Given the description of an element on the screen output the (x, y) to click on. 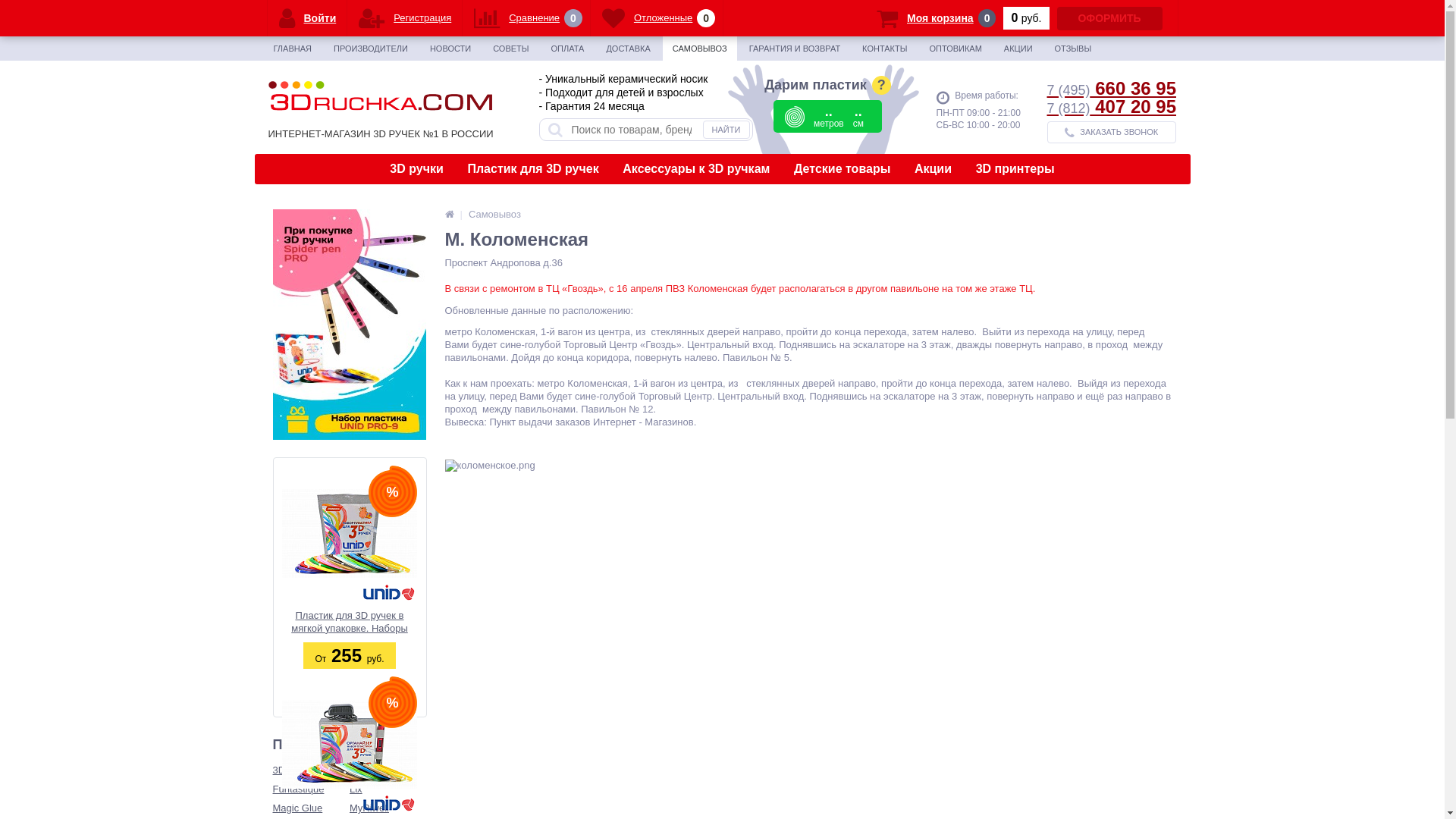
Magic Glue Element type: text (311, 808)
CreoPop Element type: text (387, 770)
7 (812) 407 20 95 Element type: text (1110, 106)
% Element type: text (349, 743)
3DSimo Element type: text (311, 770)
Funtastique Element type: text (311, 789)
Lix Element type: text (387, 789)
MyRiwell Element type: text (387, 808)
7 (495) 660 36 95 Element type: text (1110, 88)
% Element type: text (349, 532)
